Given the description of an element on the screen output the (x, y) to click on. 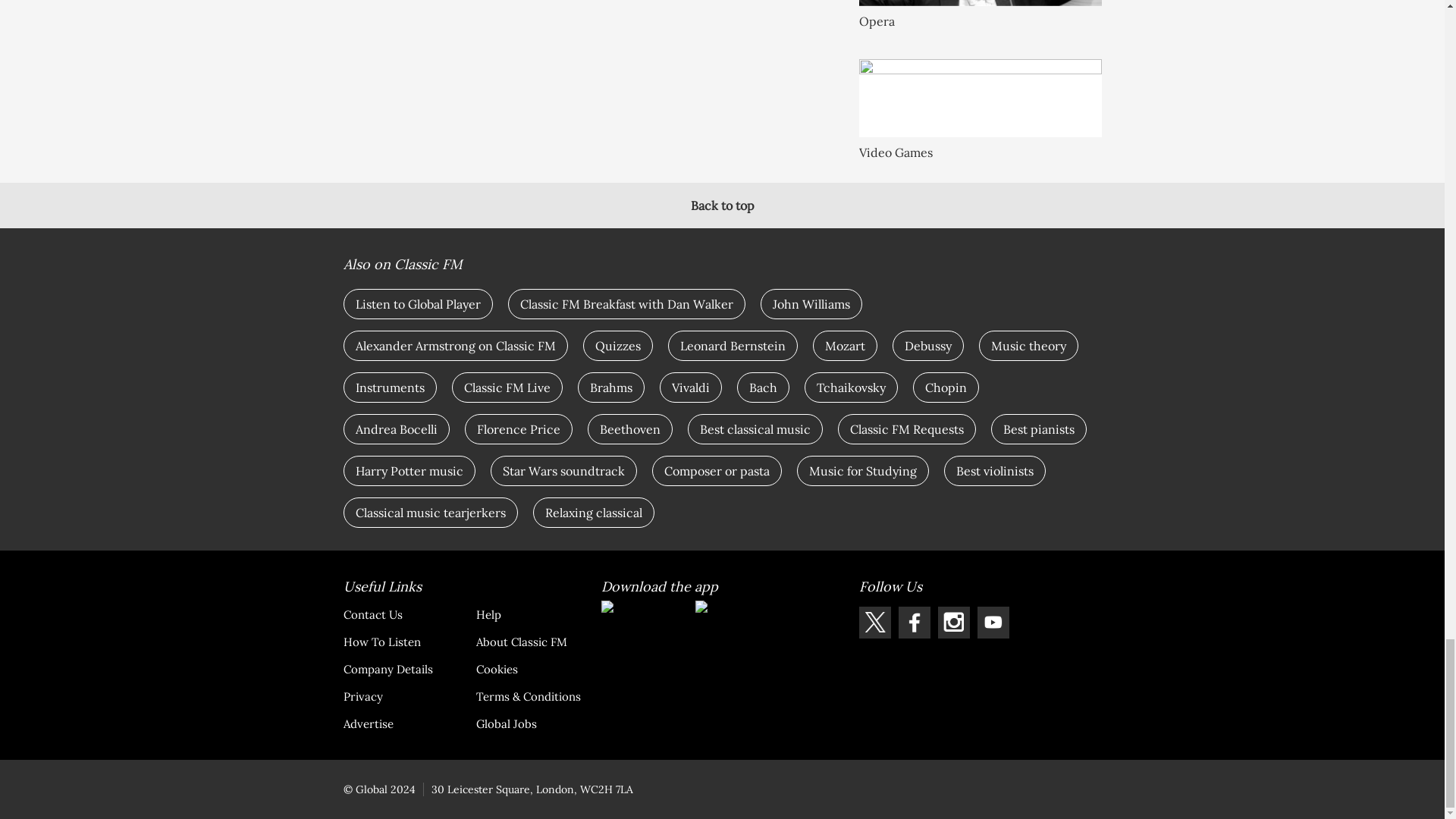
Follow Classic FM on Facebook (914, 622)
Back to top (722, 205)
Follow Classic FM on Instagram (953, 622)
Follow Classic FM on Youtube (992, 622)
Follow Classic FM on X (874, 622)
